Given the description of an element on the screen output the (x, y) to click on. 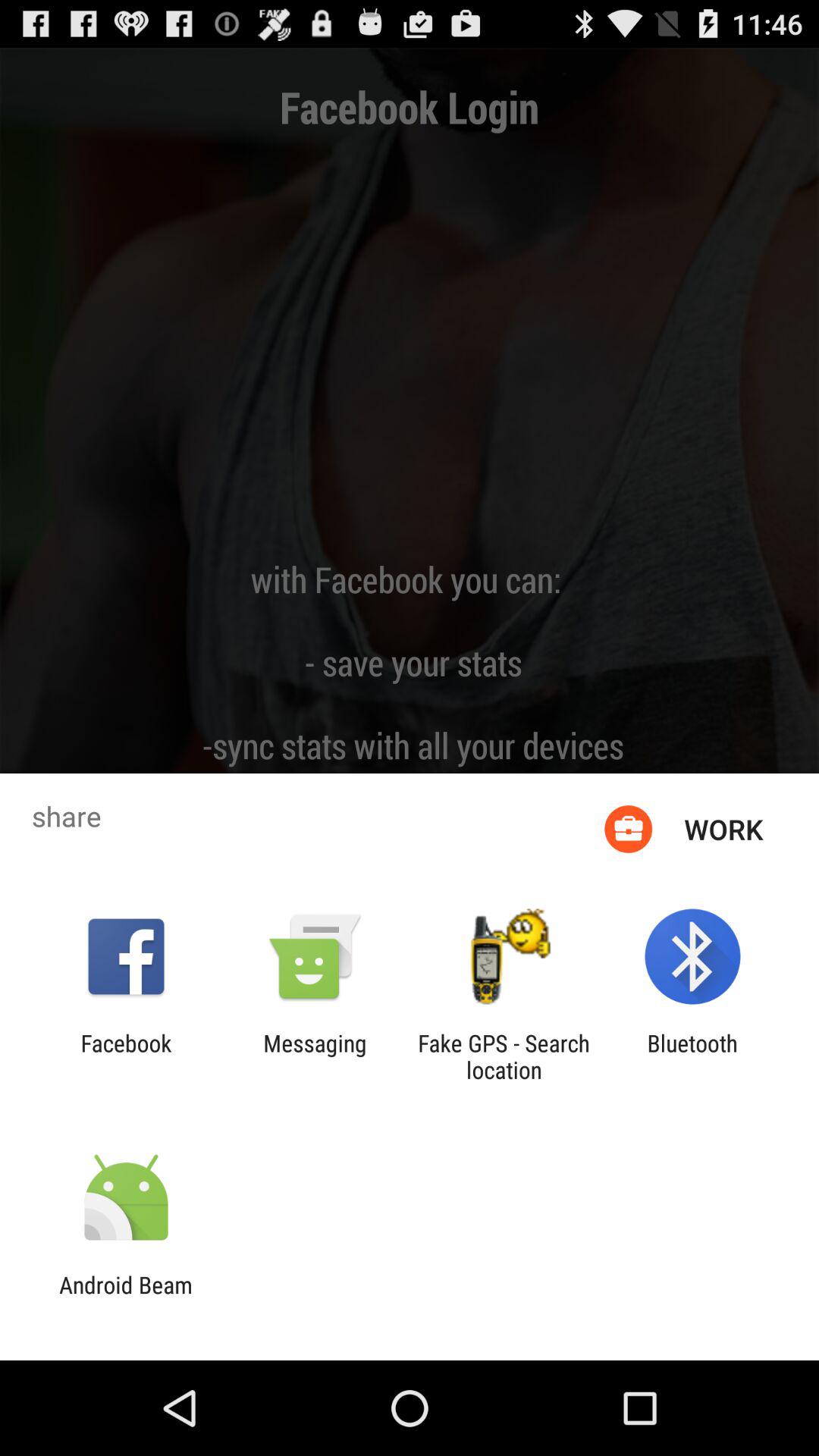
select the fake gps search (503, 1056)
